Given the description of an element on the screen output the (x, y) to click on. 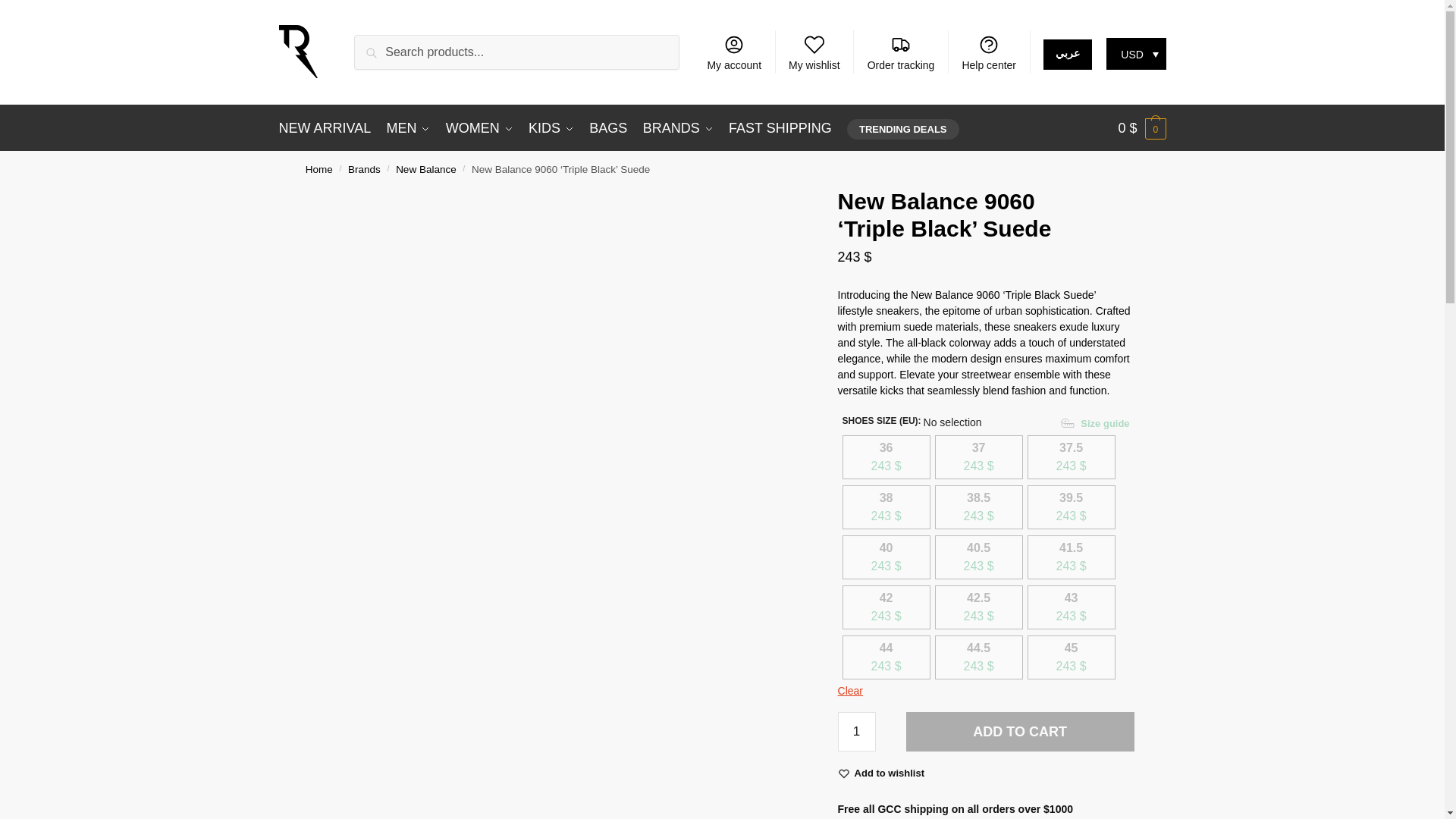
View your shopping cart (1142, 127)
Search (377, 45)
1 (857, 731)
NEW ARRIVAL (328, 127)
Order tracking (900, 52)
USD (1136, 53)
Size guide (1096, 423)
WOMEN (479, 127)
KIDS (550, 127)
MEN (408, 127)
My account (733, 52)
My wishlist (813, 52)
Help center (988, 52)
BRANDS (677, 127)
BAGS (607, 127)
